Given the description of an element on the screen output the (x, y) to click on. 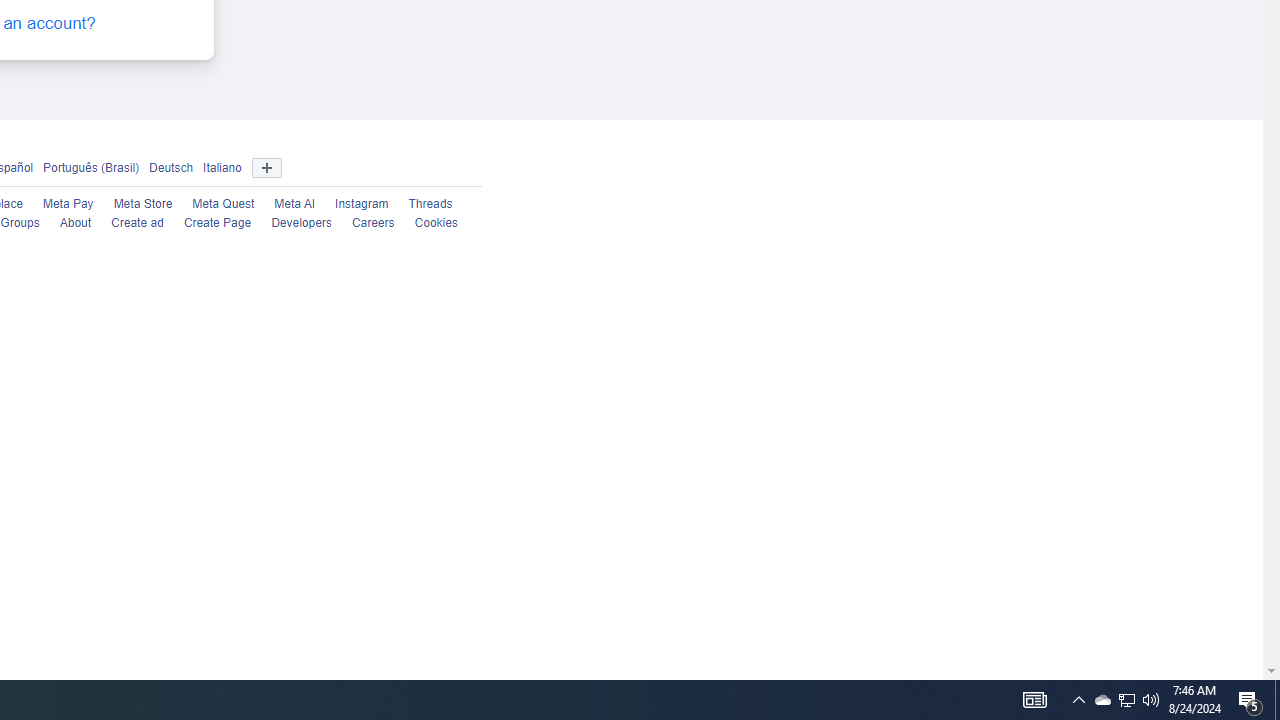
Meta Pay (67, 204)
Meta AI (294, 204)
Meta Quest (223, 204)
